Given the description of an element on the screen output the (x, y) to click on. 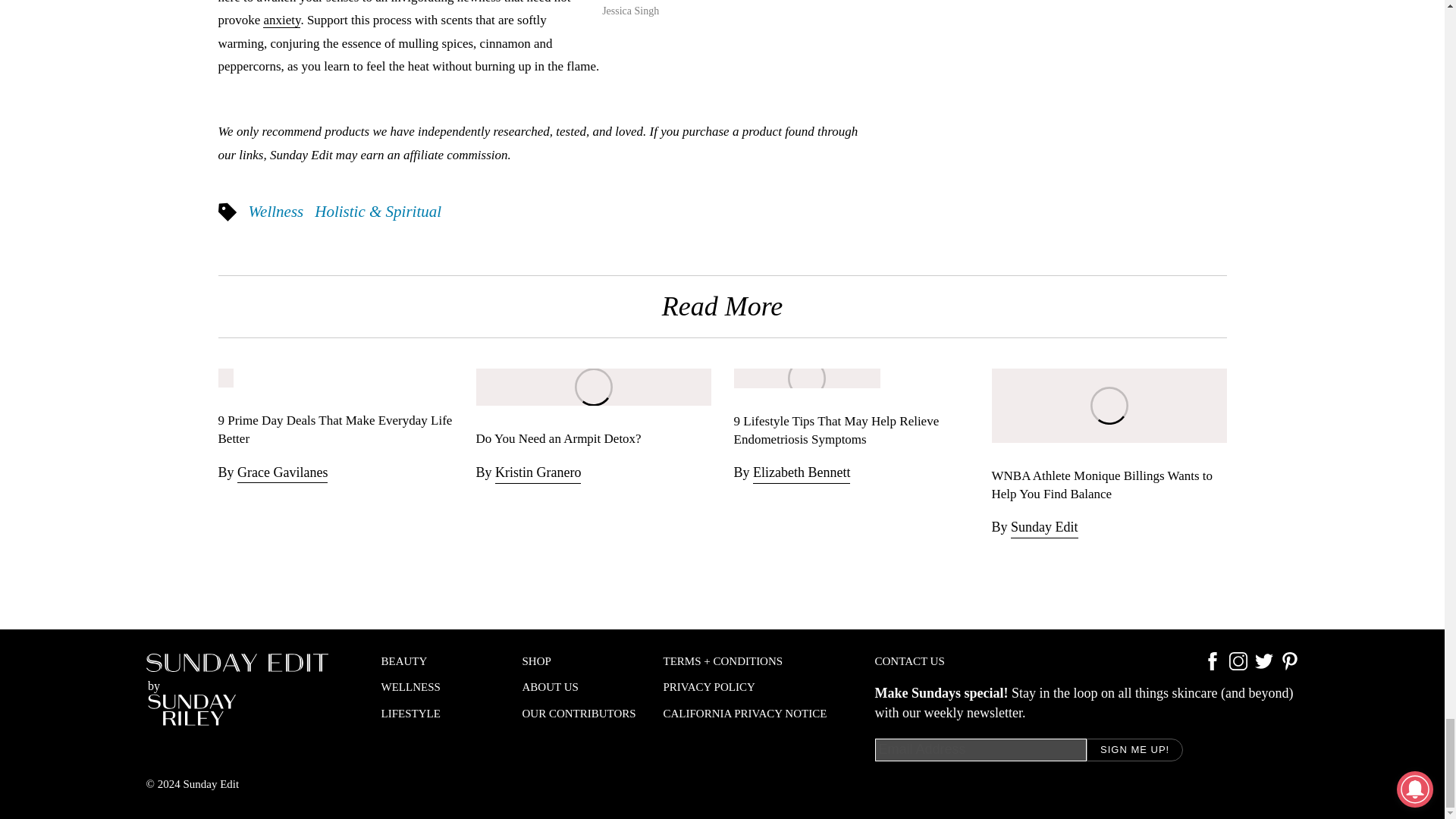
Pinterest (1288, 666)
Facebook (1212, 666)
Instagram (1237, 666)
Twitter (1262, 666)
by (236, 689)
